Given the description of an element on the screen output the (x, y) to click on. 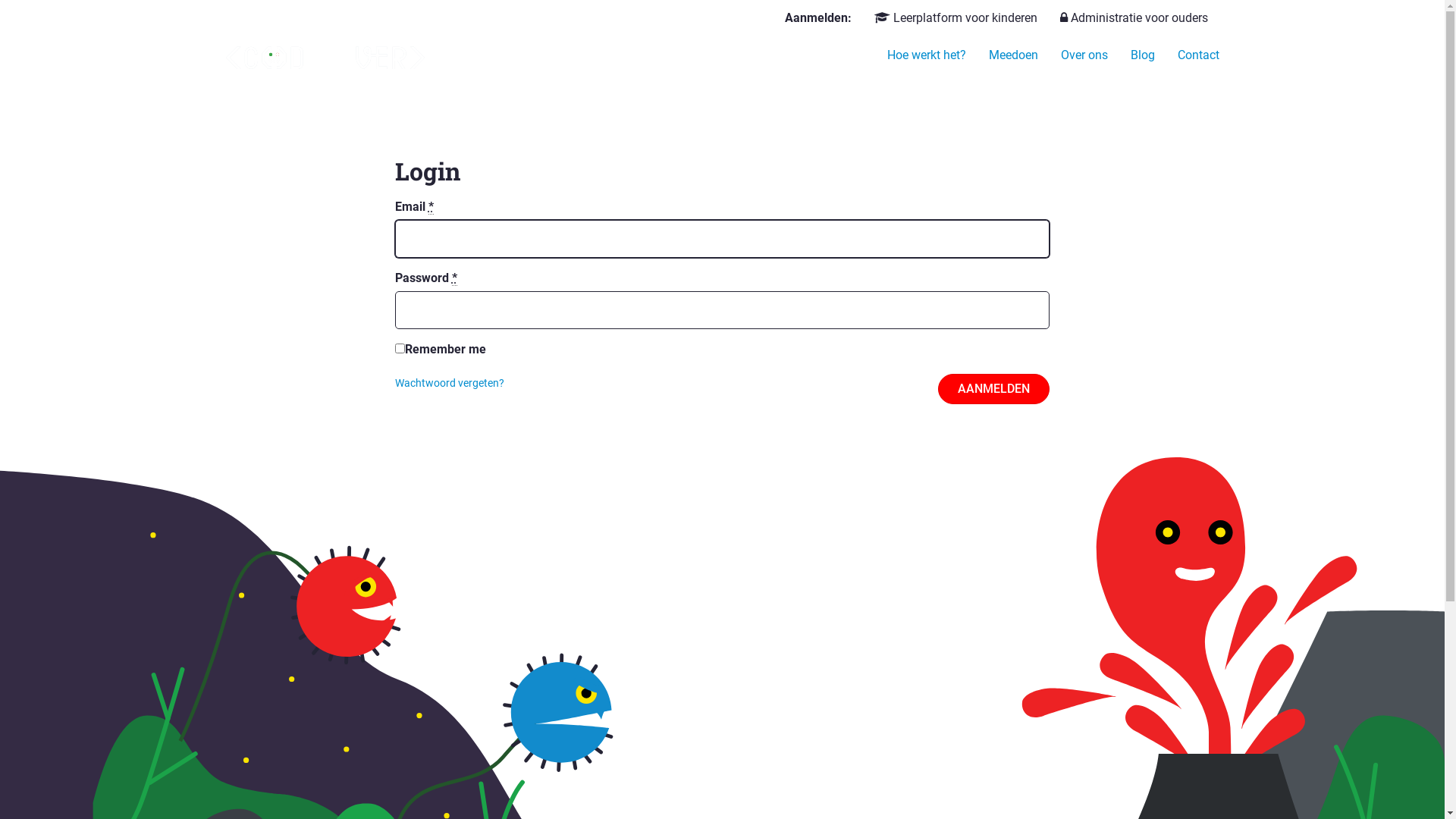
Aanmelden Element type: text (993, 388)
Hoe werkt het? Element type: text (925, 55)
Administratie voor ouders Element type: text (1134, 18)
Contact Element type: text (1198, 55)
Meedoen Element type: text (1012, 55)
Leerplatform voor kinderen Element type: text (954, 18)
Blog Element type: text (1142, 55)
Wachtwoord vergeten? Element type: text (449, 382)
Over ons Element type: text (1084, 55)
